Given the description of an element on the screen output the (x, y) to click on. 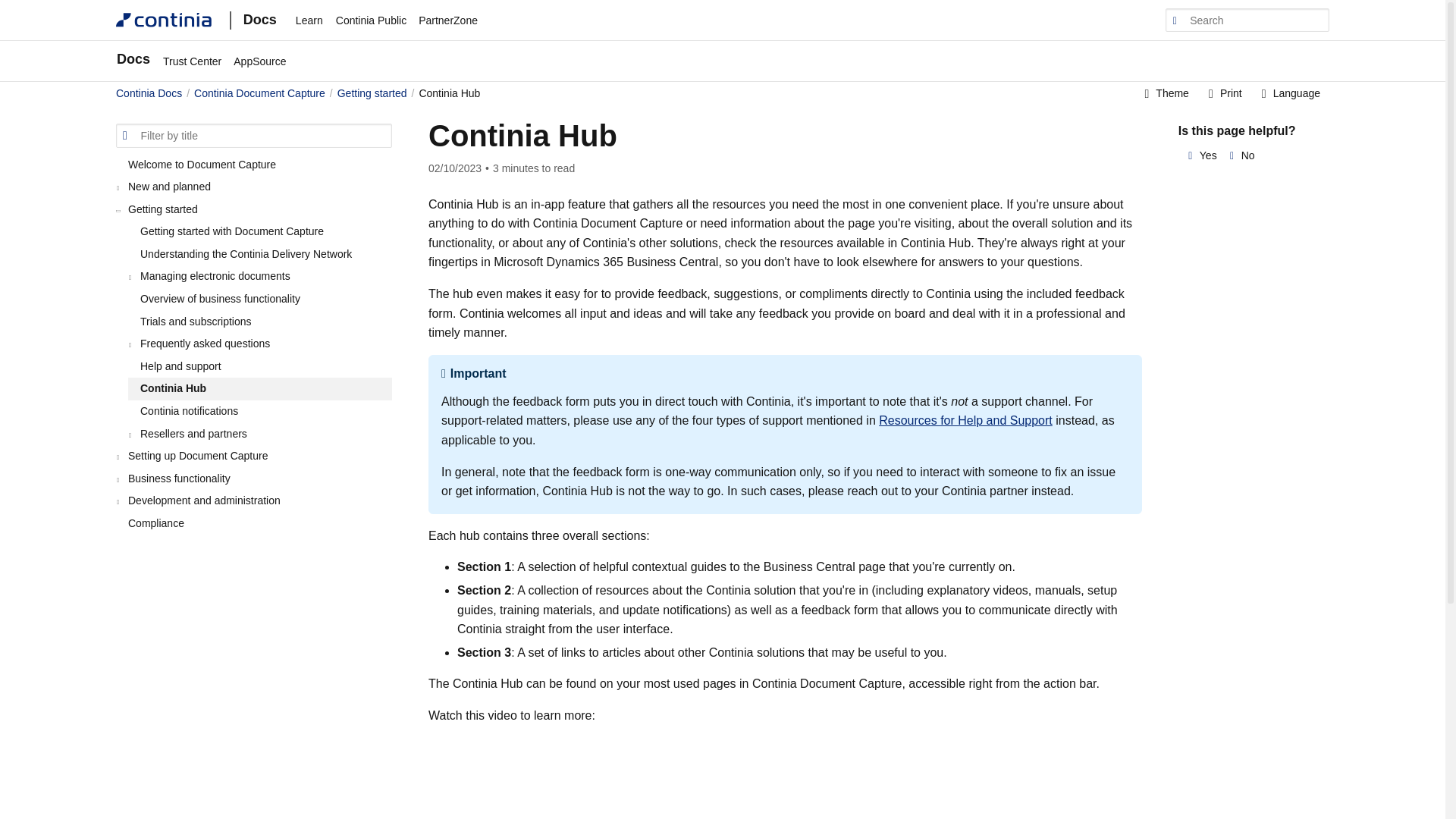
Welcome to Document Capture (253, 164)
Theme (1166, 93)
Print (1224, 93)
Getting started (372, 92)
Language (1289, 93)
Continia Public (371, 20)
Trust Center (192, 60)
Continia Document Capture (258, 92)
AppSource (259, 60)
Continia Hub Contexual Support (640, 771)
Docs (136, 60)
Learn (309, 20)
Docs (249, 20)
Continia Docs (149, 92)
PartnerZone (447, 20)
